Given the description of an element on the screen output the (x, y) to click on. 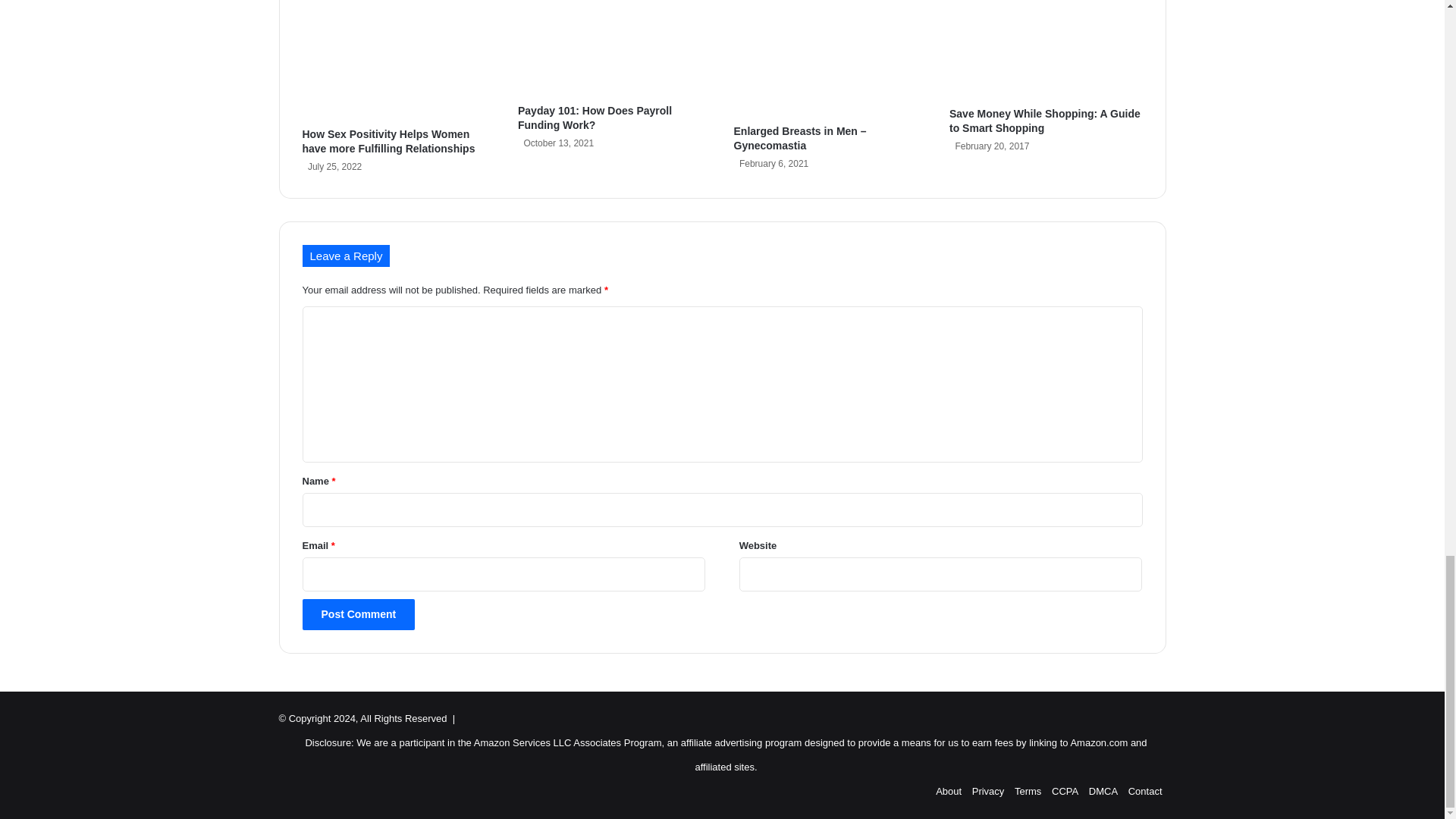
Post Comment (357, 613)
